Given the description of an element on the screen output the (x, y) to click on. 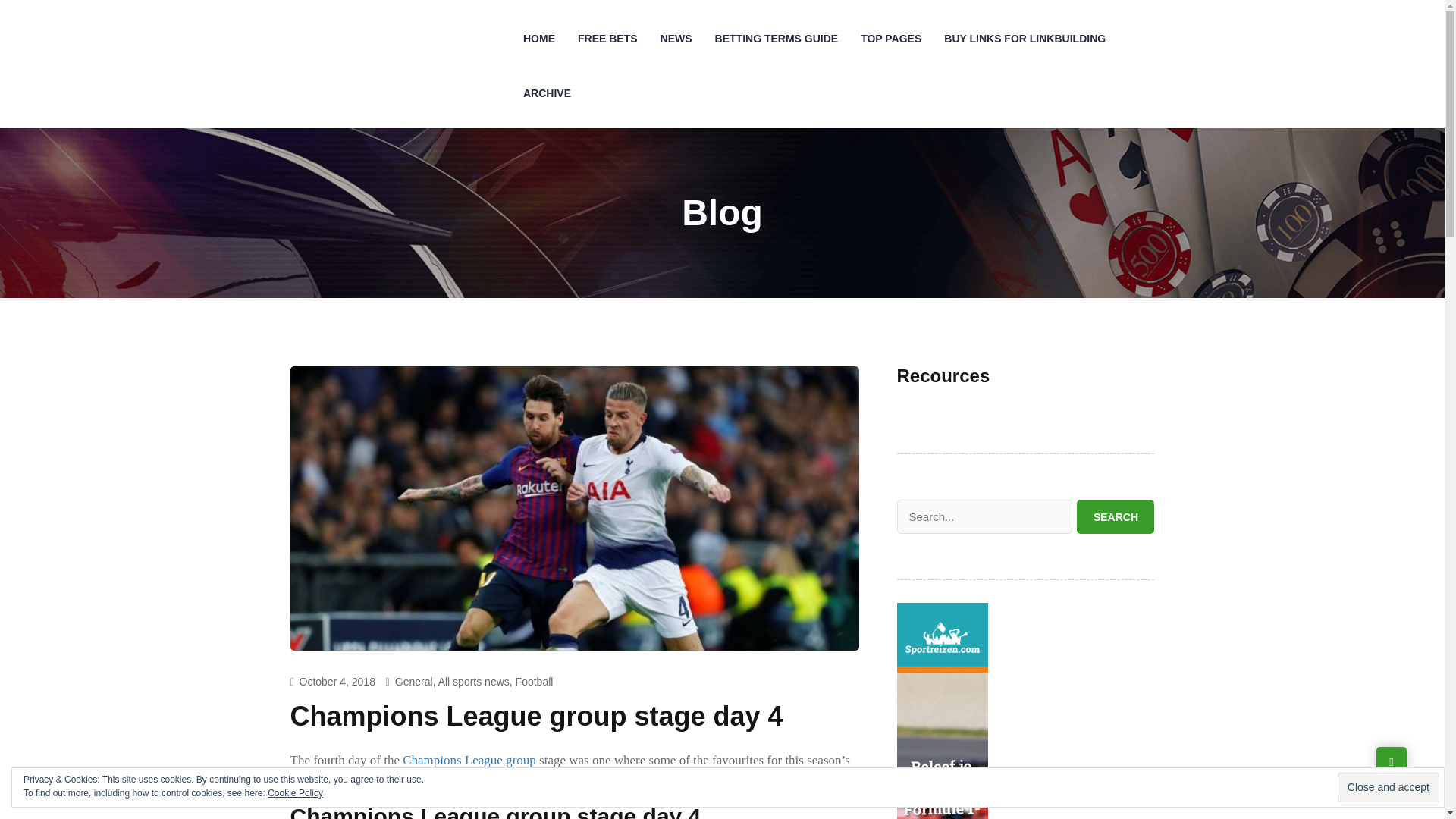
BUY LINKS FOR LINKBUILDING (1024, 38)
BETTING TERMS GUIDE (776, 38)
FREE BETS (607, 38)
NEWS (676, 38)
General (413, 681)
Champions League group (469, 759)
TOP PAGES (890, 38)
HOME (539, 38)
Close and accept (1388, 787)
All sports news (473, 681)
